Given the description of an element on the screen output the (x, y) to click on. 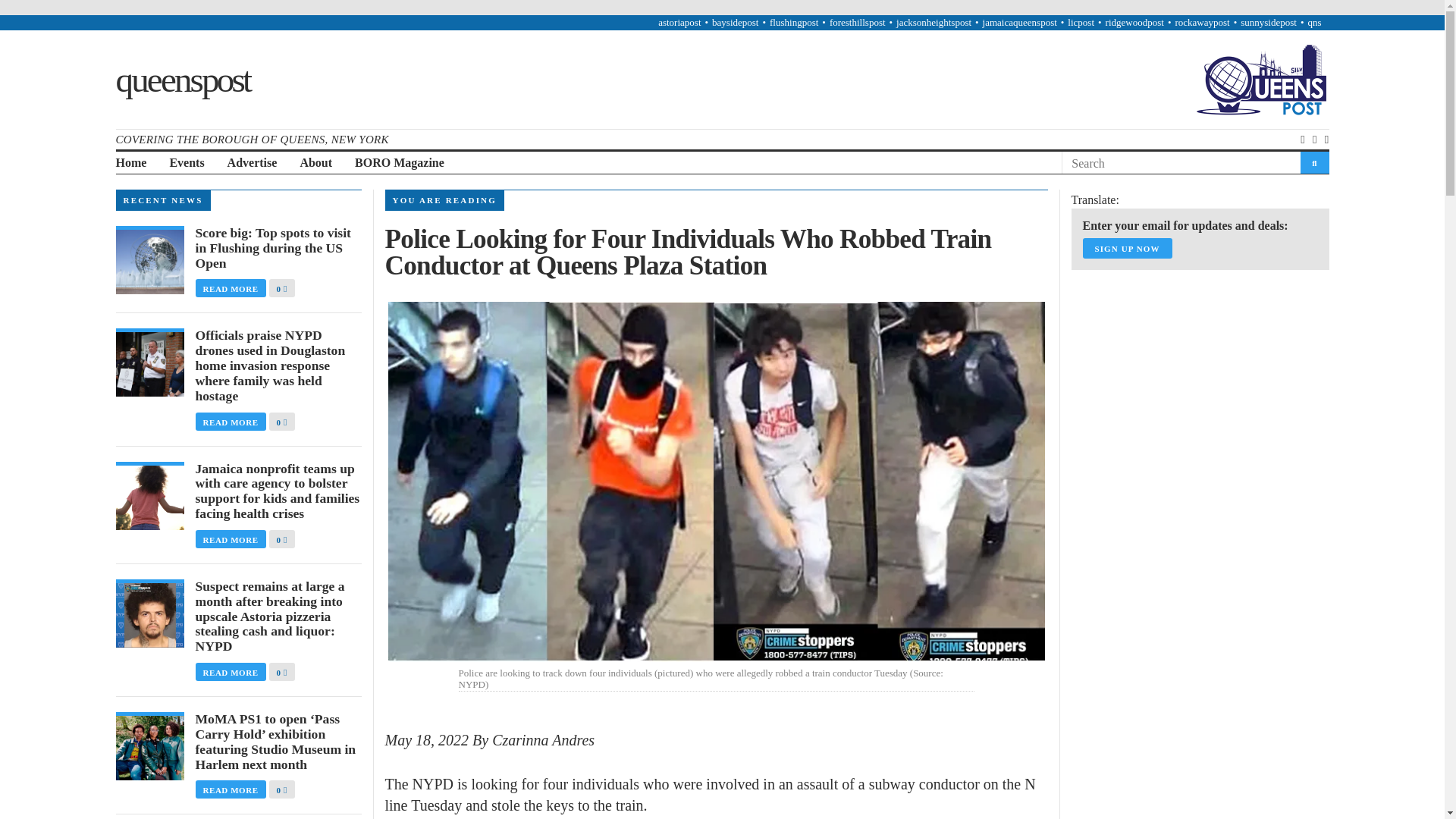
foresthillspost (857, 21)
ridgewoodpost (1134, 21)
jamaicaqueenspost (1019, 21)
astoriapost (679, 21)
qns (1313, 21)
jacksonheightspost (933, 21)
queenspost (181, 78)
sunnysidepost (1268, 21)
rockawaypost (1201, 21)
licpost (1080, 21)
